Given the description of an element on the screen output the (x, y) to click on. 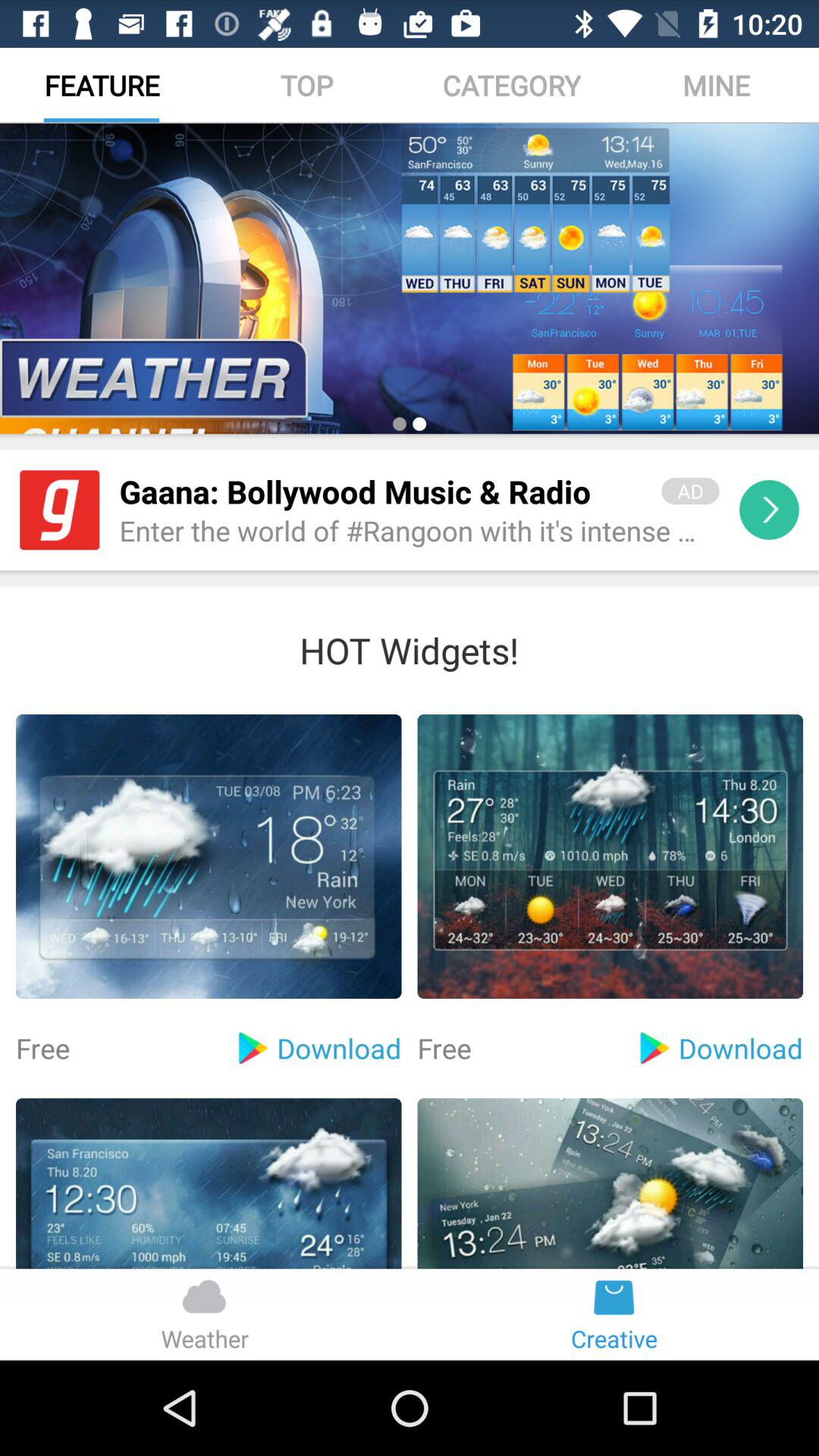
click the enter the world icon (419, 531)
